Given the description of an element on the screen output the (x, y) to click on. 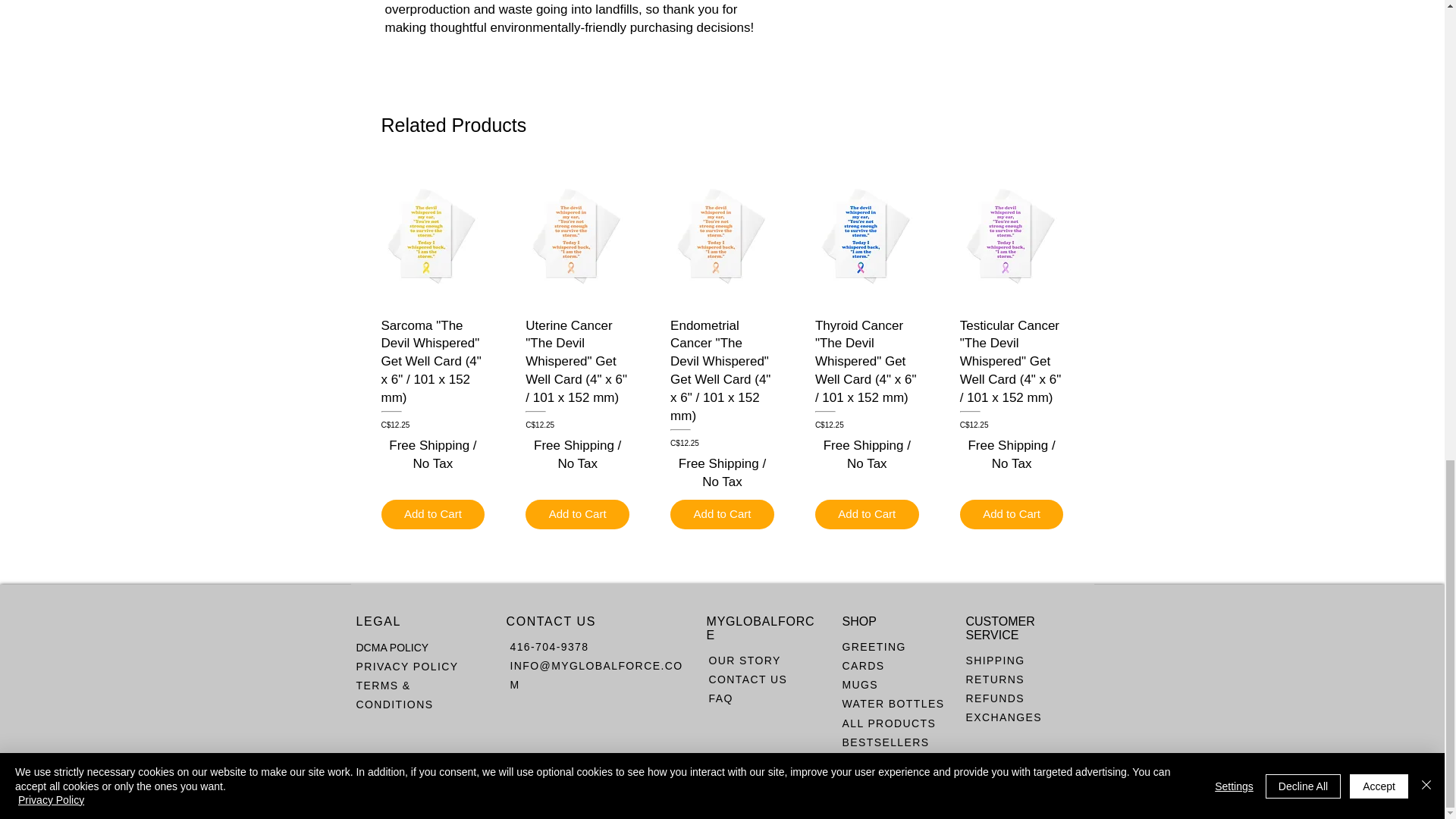
Add to Cart (866, 514)
Add to Cart (576, 514)
Add to Cart (721, 514)
Add to Cart (432, 514)
